Given the description of an element on the screen output the (x, y) to click on. 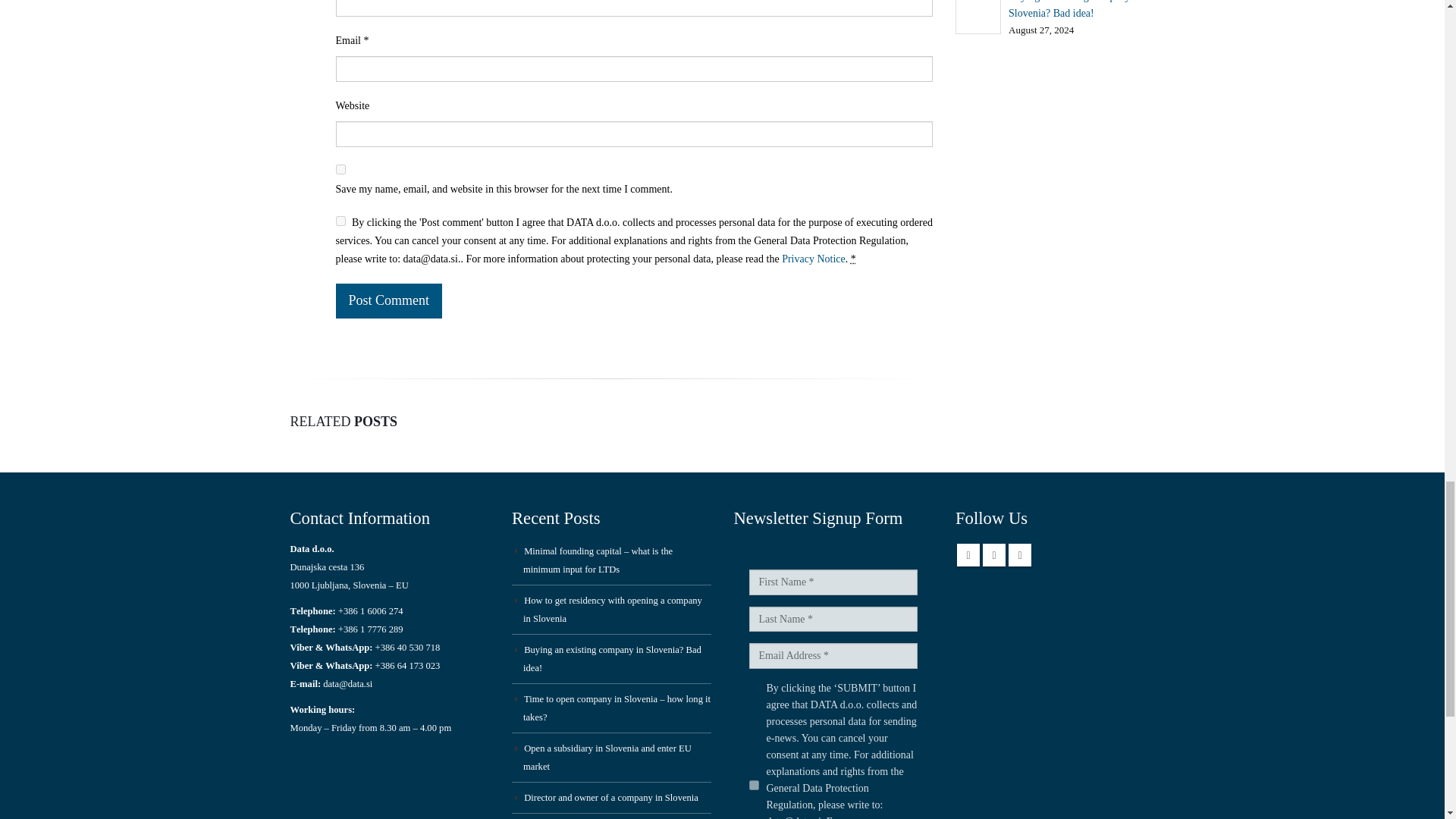
Post Comment (387, 300)
yes (339, 169)
1 (339, 221)
Privacy Notice (813, 258)
